Given the description of an element on the screen output the (x, y) to click on. 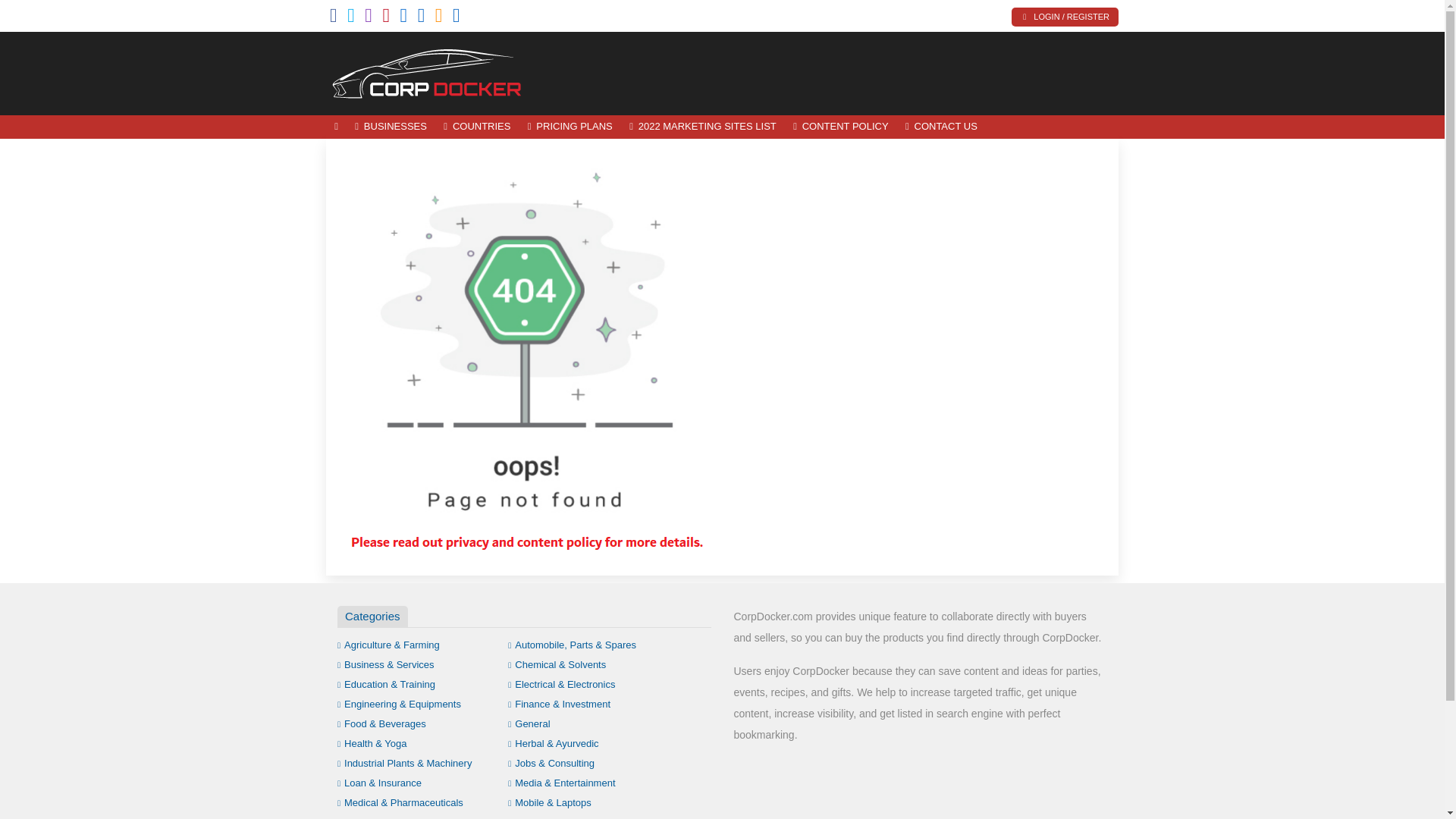
CONTACT US (940, 126)
COUNTRIES (476, 126)
BUSINESSES (390, 126)
General (529, 723)
CONTENT POLICY (840, 126)
2022 MARKETING SITES LIST (702, 126)
PRICING PLANS (570, 126)
